Given the description of an element on the screen output the (x, y) to click on. 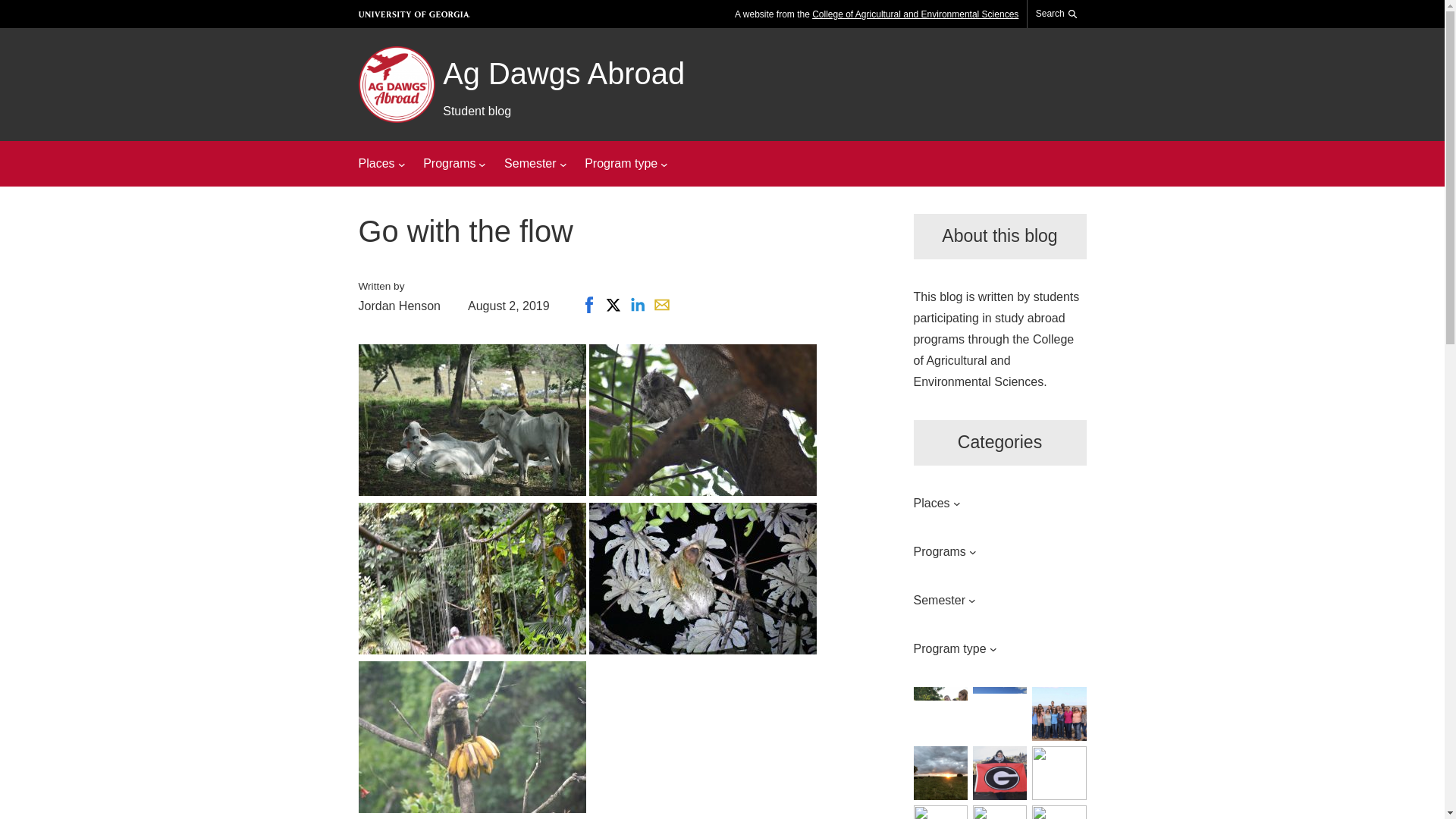
Places (376, 163)
Programs (449, 163)
Program type (621, 163)
Semester (529, 163)
Ag Dawgs Abroad (563, 73)
Search (1056, 13)
Search (1053, 51)
College of Agricultural and Environmental Sciences (914, 14)
University of Georgia (414, 14)
